Given the description of an element on the screen output the (x, y) to click on. 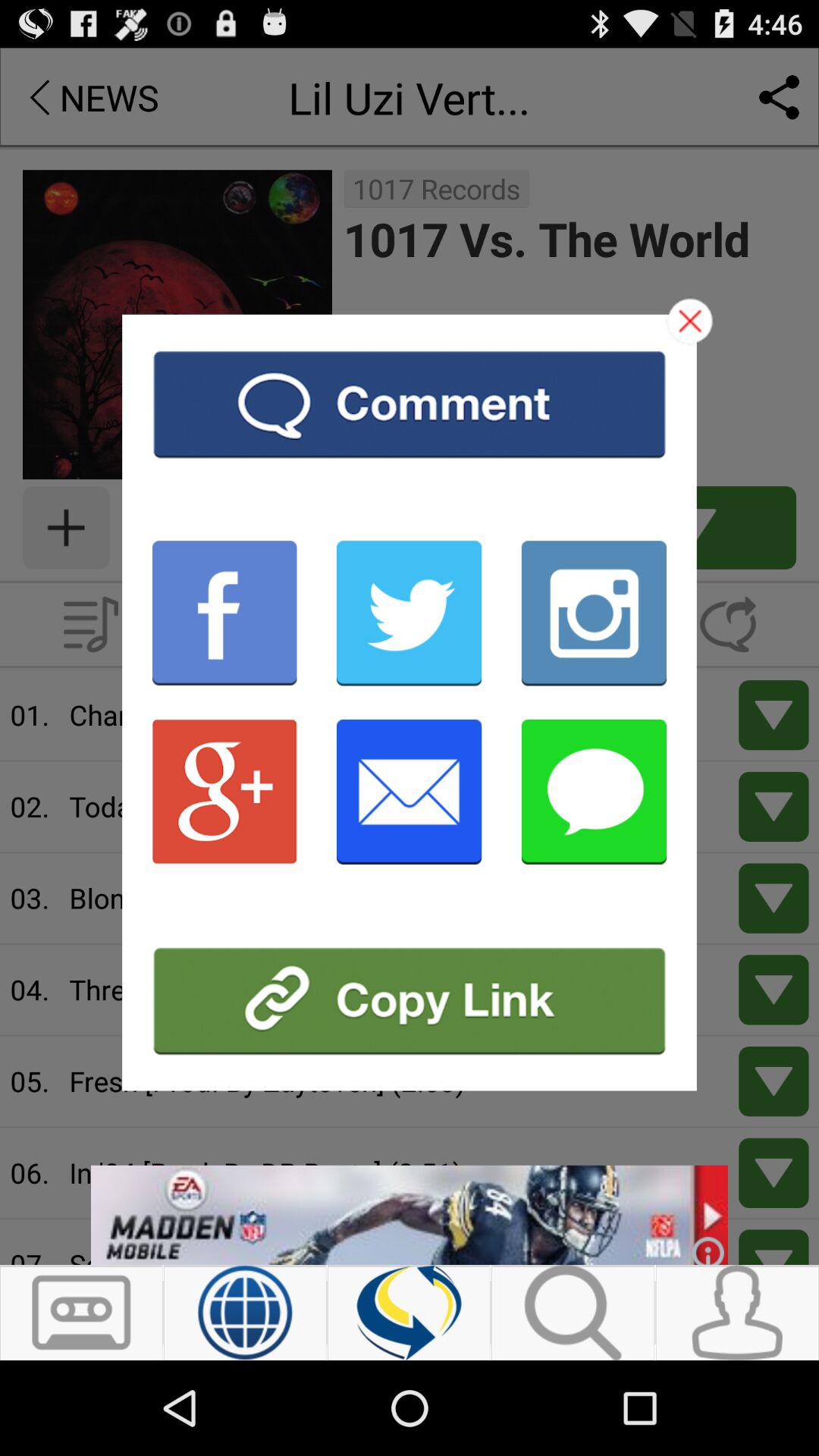
select email (408, 791)
